Given the description of an element on the screen output the (x, y) to click on. 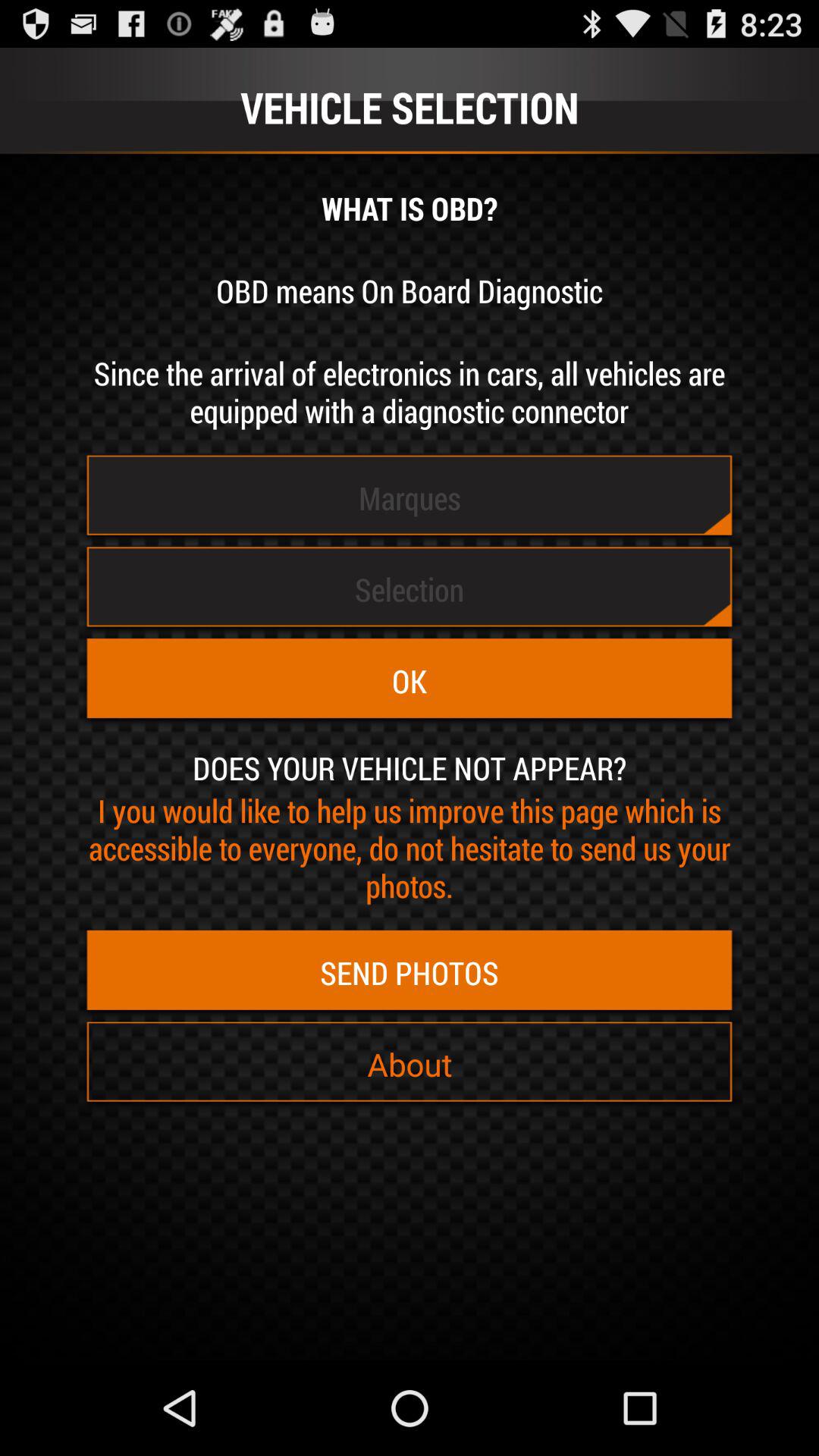
click the icon below send photos item (409, 1064)
